Given the description of an element on the screen output the (x, y) to click on. 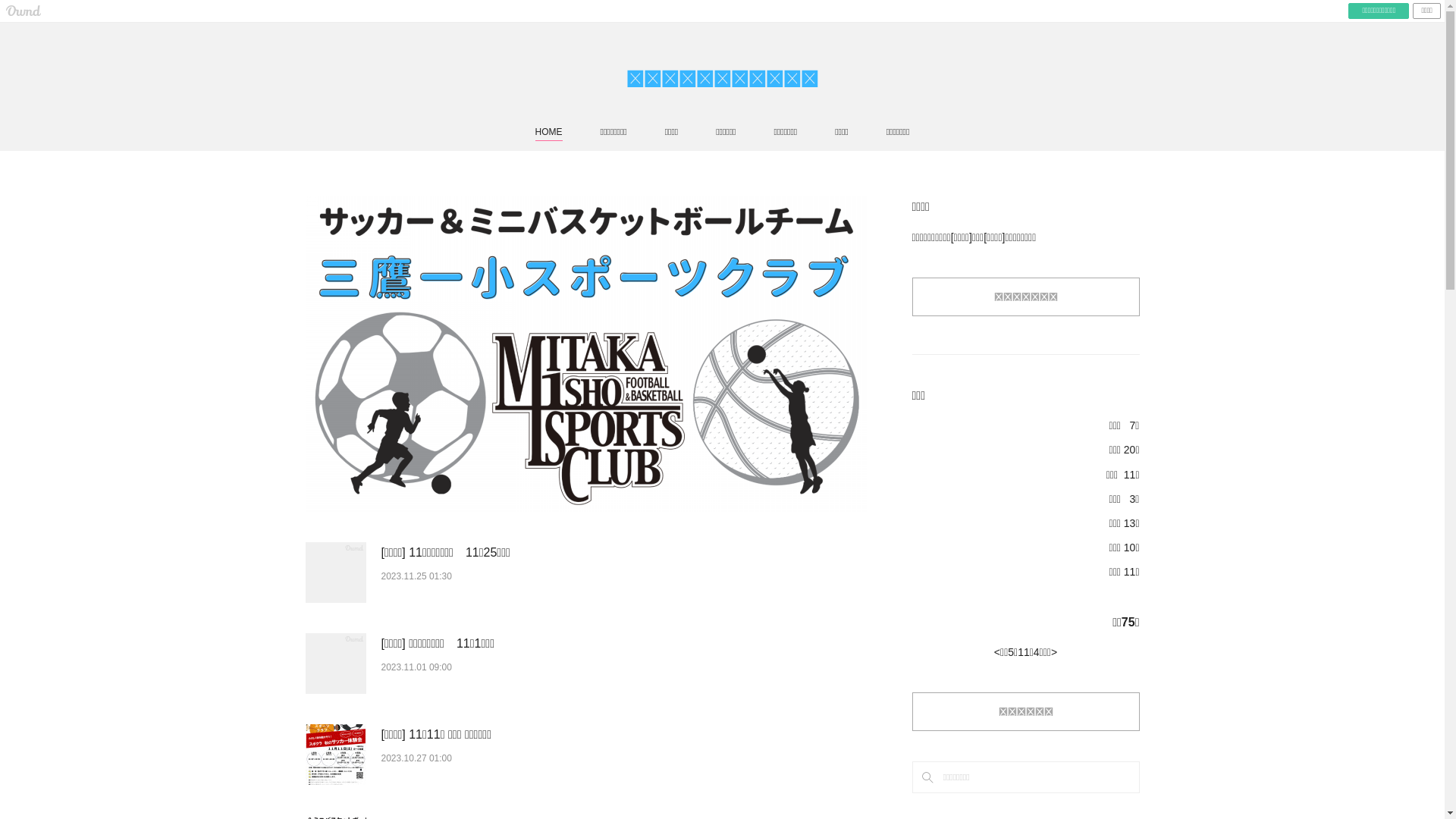
2023.11.25 01:30 Element type: text (415, 576)
2023.11.01 09:00 Element type: text (415, 667)
2023.10.27 01:00 Element type: text (415, 758)
HOME Element type: text (548, 131)
